Given the description of an element on the screen output the (x, y) to click on. 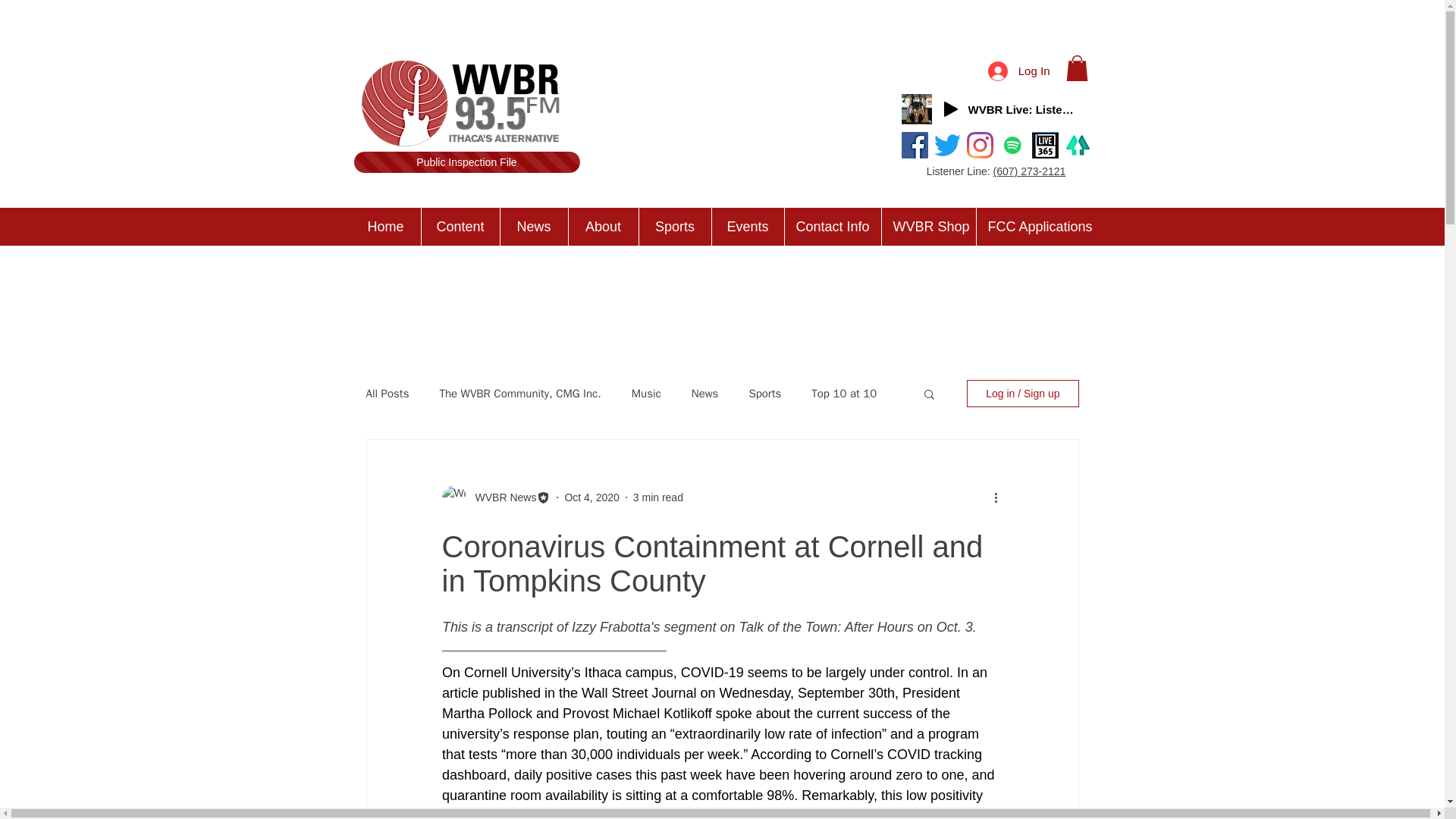
Contact Info (832, 226)
Events (747, 226)
News (533, 226)
WVBR-IthAlt.png (466, 105)
Log In (1018, 70)
Oct 4, 2020 (591, 497)
3 min read (657, 497)
WVBR News (500, 497)
About (602, 226)
Home (385, 226)
Sports (675, 226)
